Given the description of an element on the screen output the (x, y) to click on. 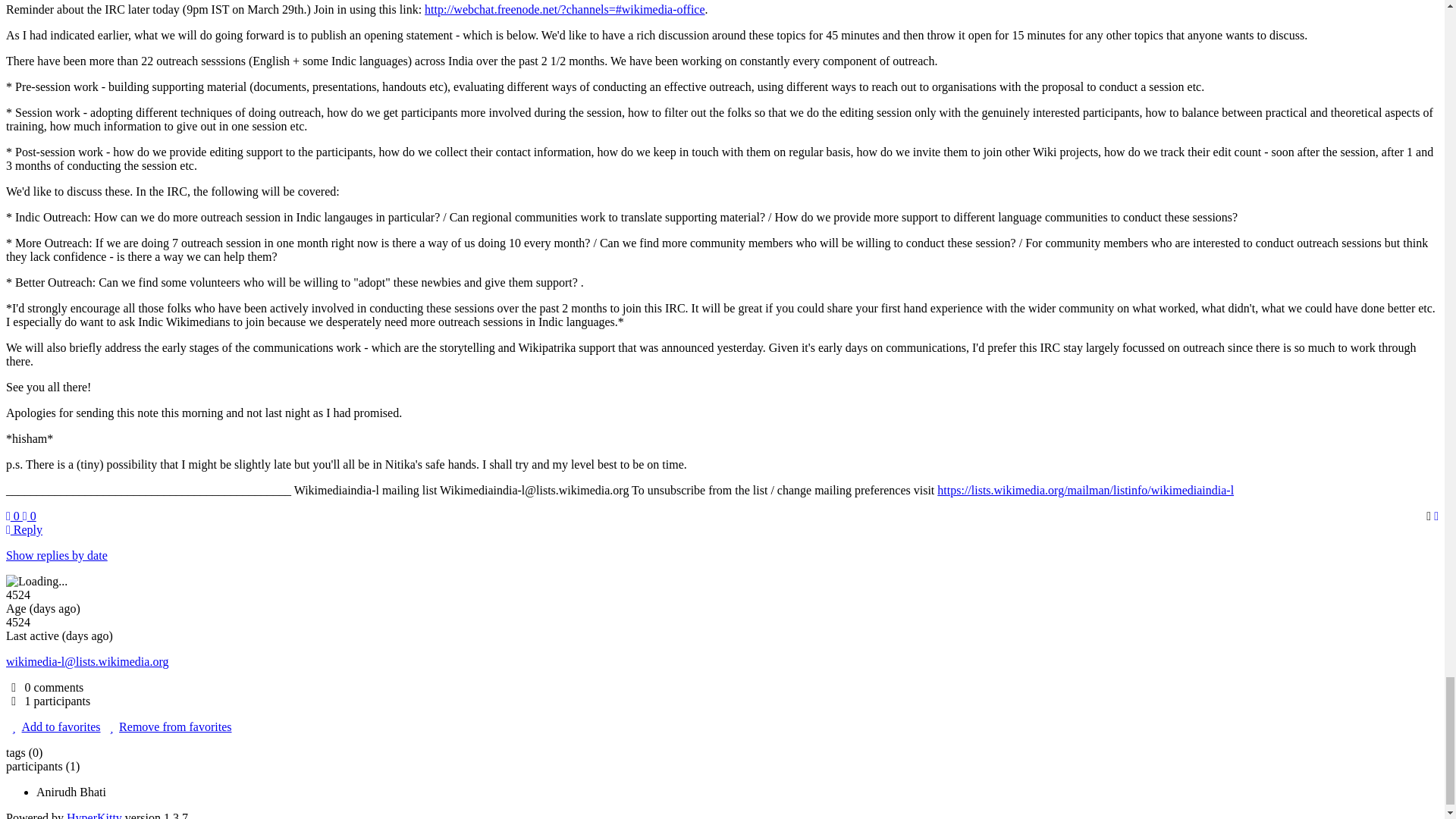
You must be logged-in to vote. (14, 515)
You must be logged-in to have favorites. (52, 726)
You must be logged-in to vote. (29, 515)
Sign in to reply online (23, 529)
